Given the description of an element on the screen output the (x, y) to click on. 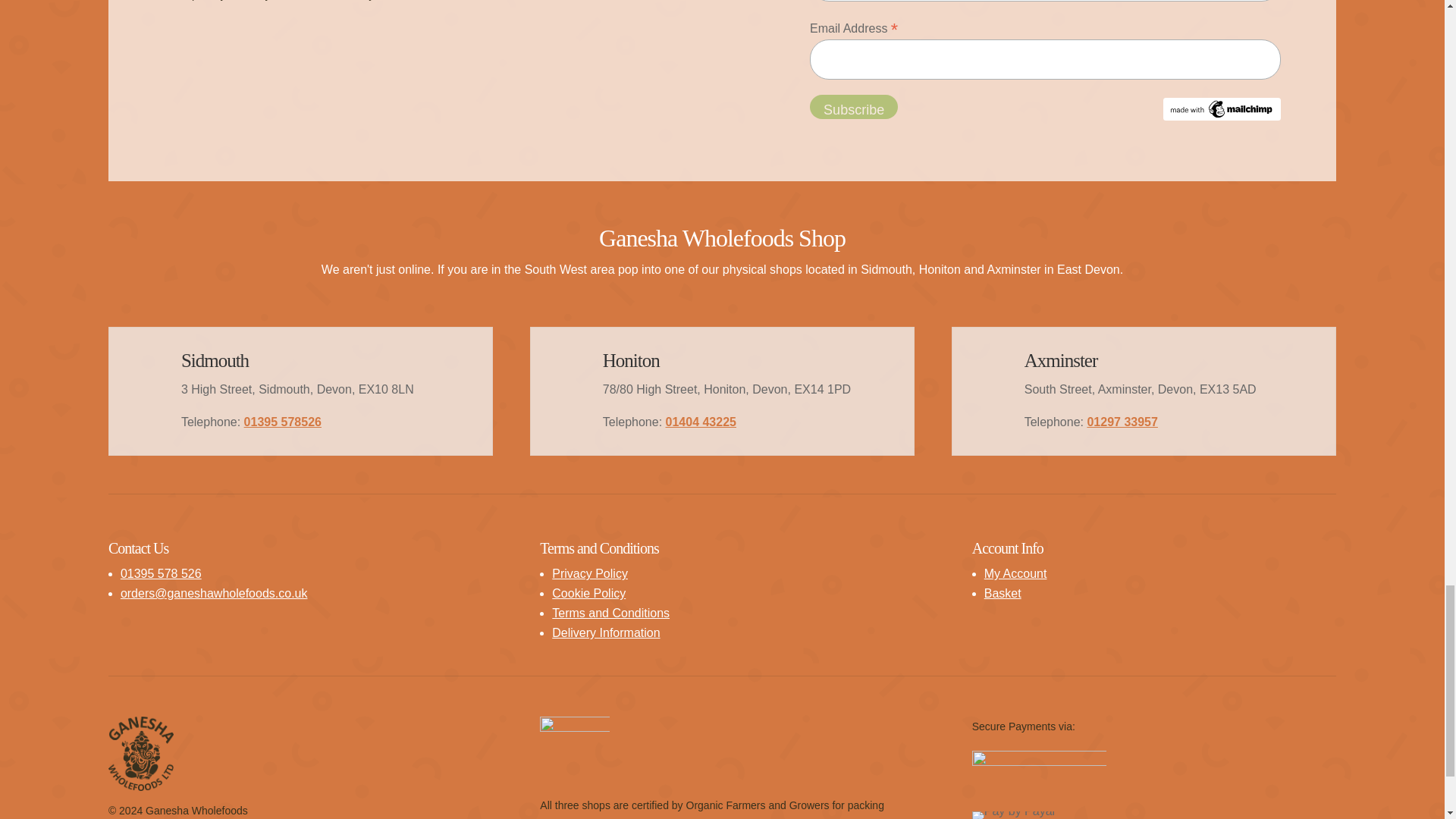
payment-methods (1039, 764)
organic-farmers-growers-logo-250 (574, 750)
Mailchimp - email marketing made easy and fun (1222, 115)
Subscribe (853, 106)
Pay by Payal (1013, 815)
